Given the description of an element on the screen output the (x, y) to click on. 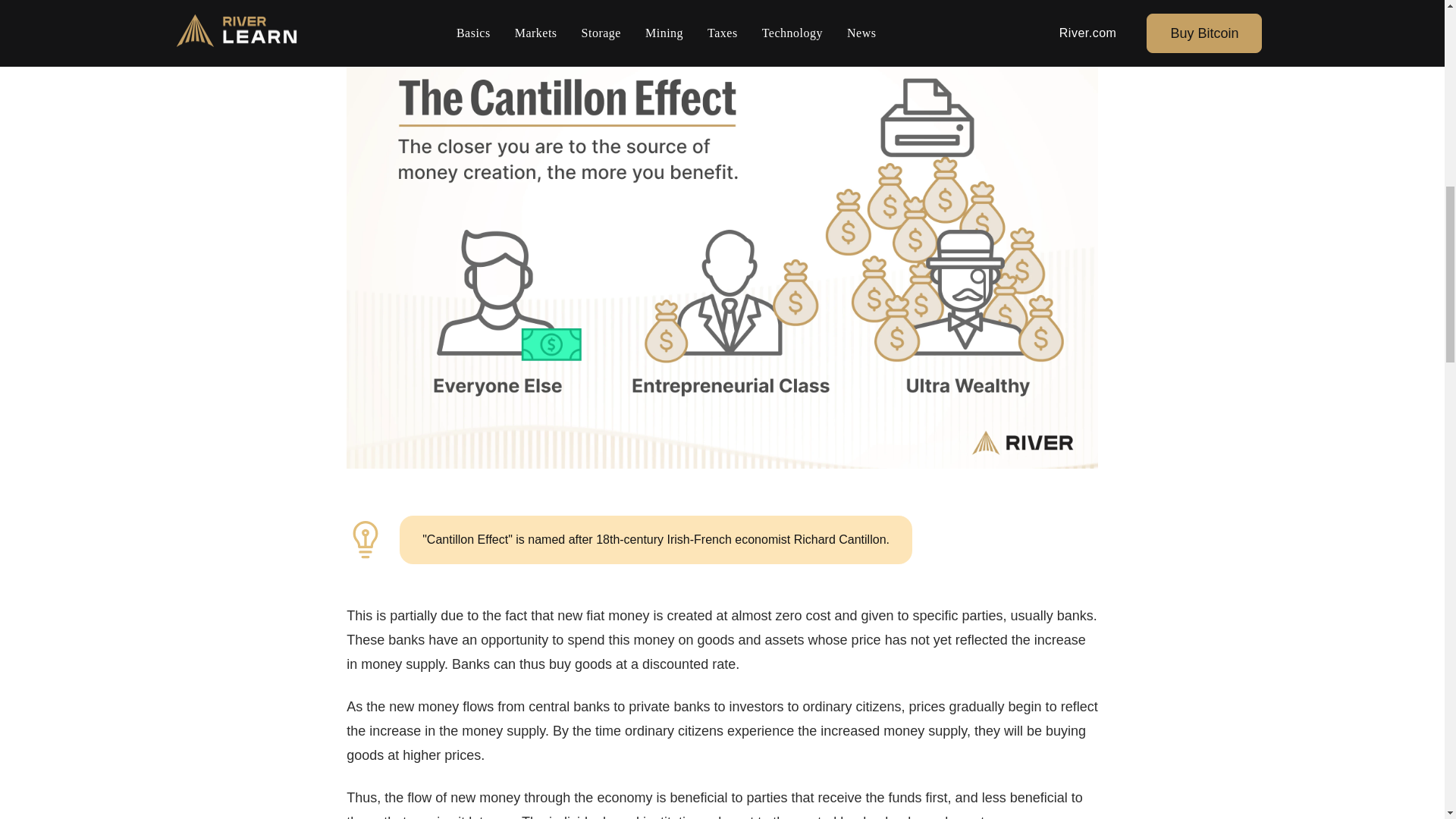
arbitrage (420, 15)
